Given the description of an element on the screen output the (x, y) to click on. 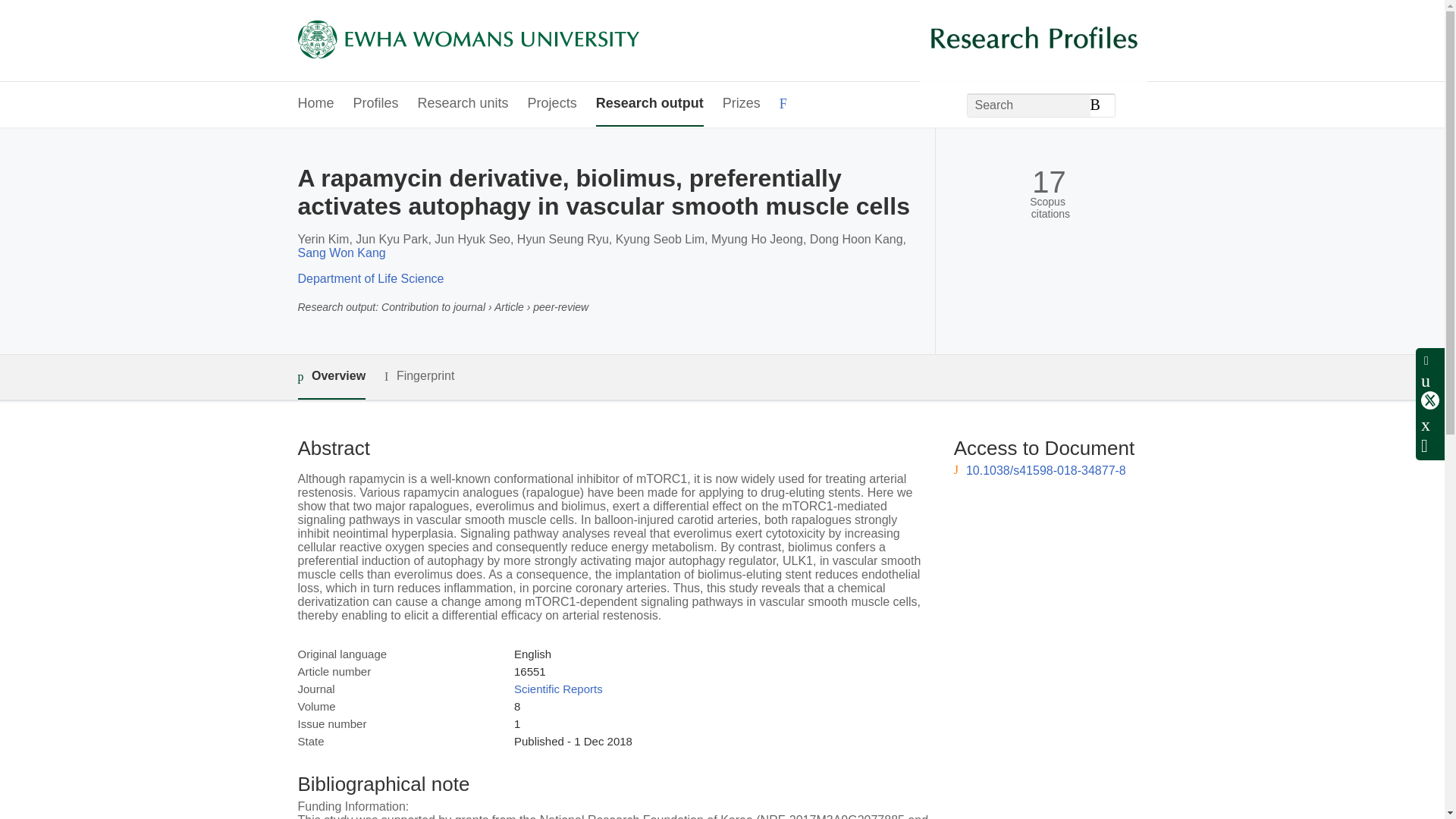
Research units (462, 103)
Ewha Womans University Home (468, 40)
Sang Won Kang (341, 252)
Research output (649, 103)
Department of Life Science (370, 278)
Projects (551, 103)
Profiles (375, 103)
Fingerprint (419, 376)
Overview (331, 376)
Scientific Reports (557, 688)
